Given the description of an element on the screen output the (x, y) to click on. 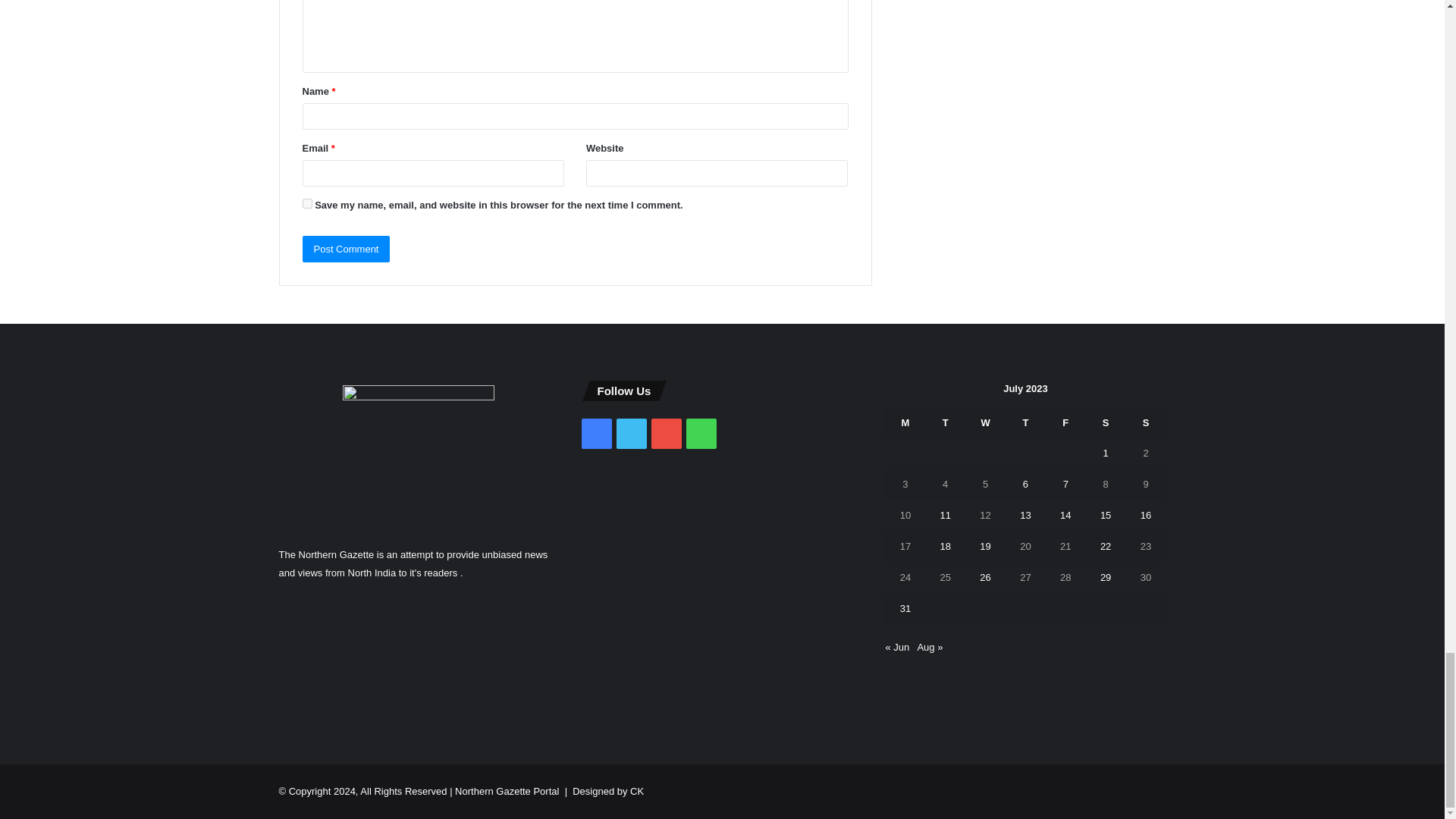
yes (306, 203)
Post Comment (345, 248)
